Given the description of an element on the screen output the (x, y) to click on. 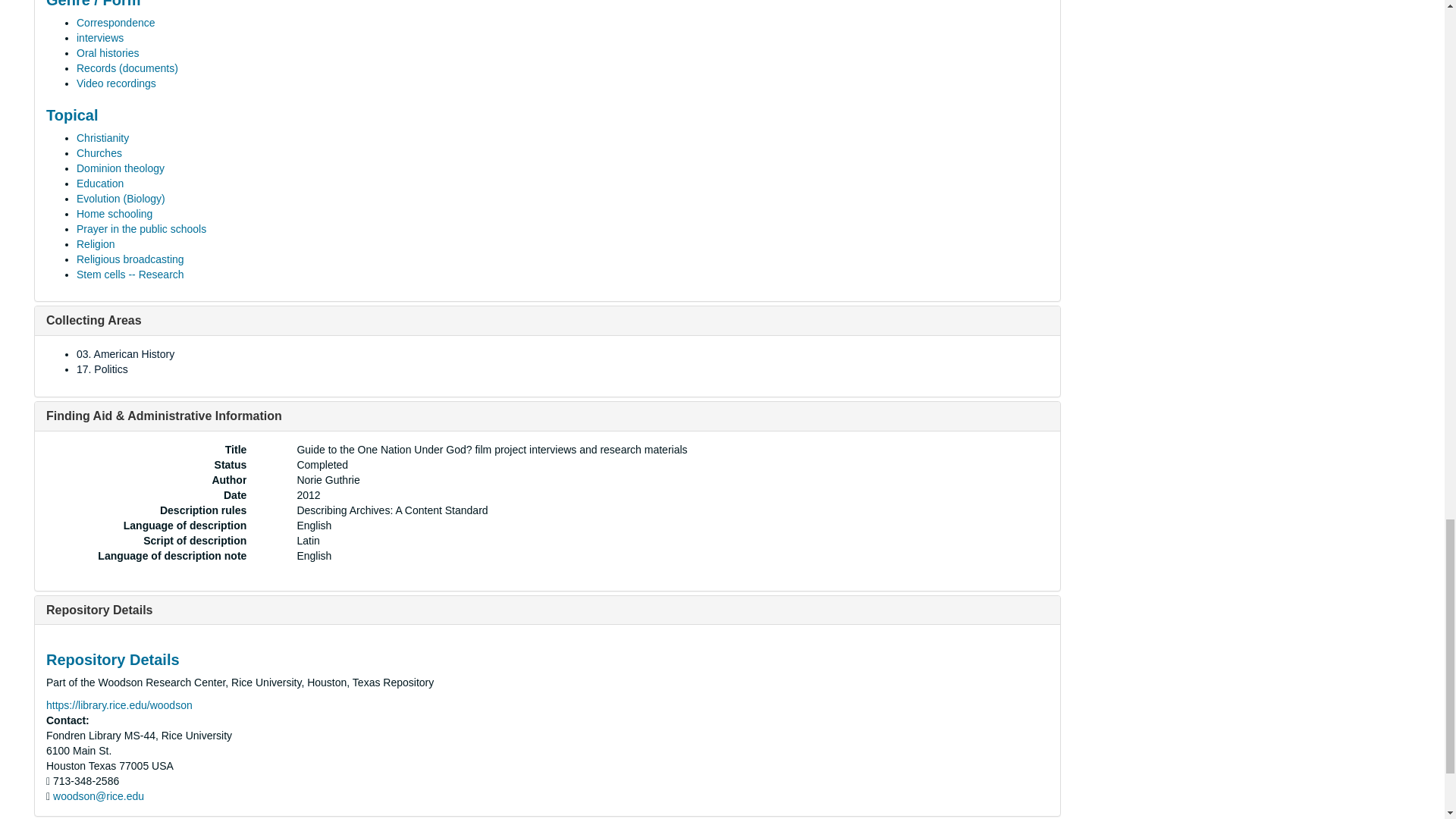
Send email (98, 796)
